Given the description of an element on the screen output the (x, y) to click on. 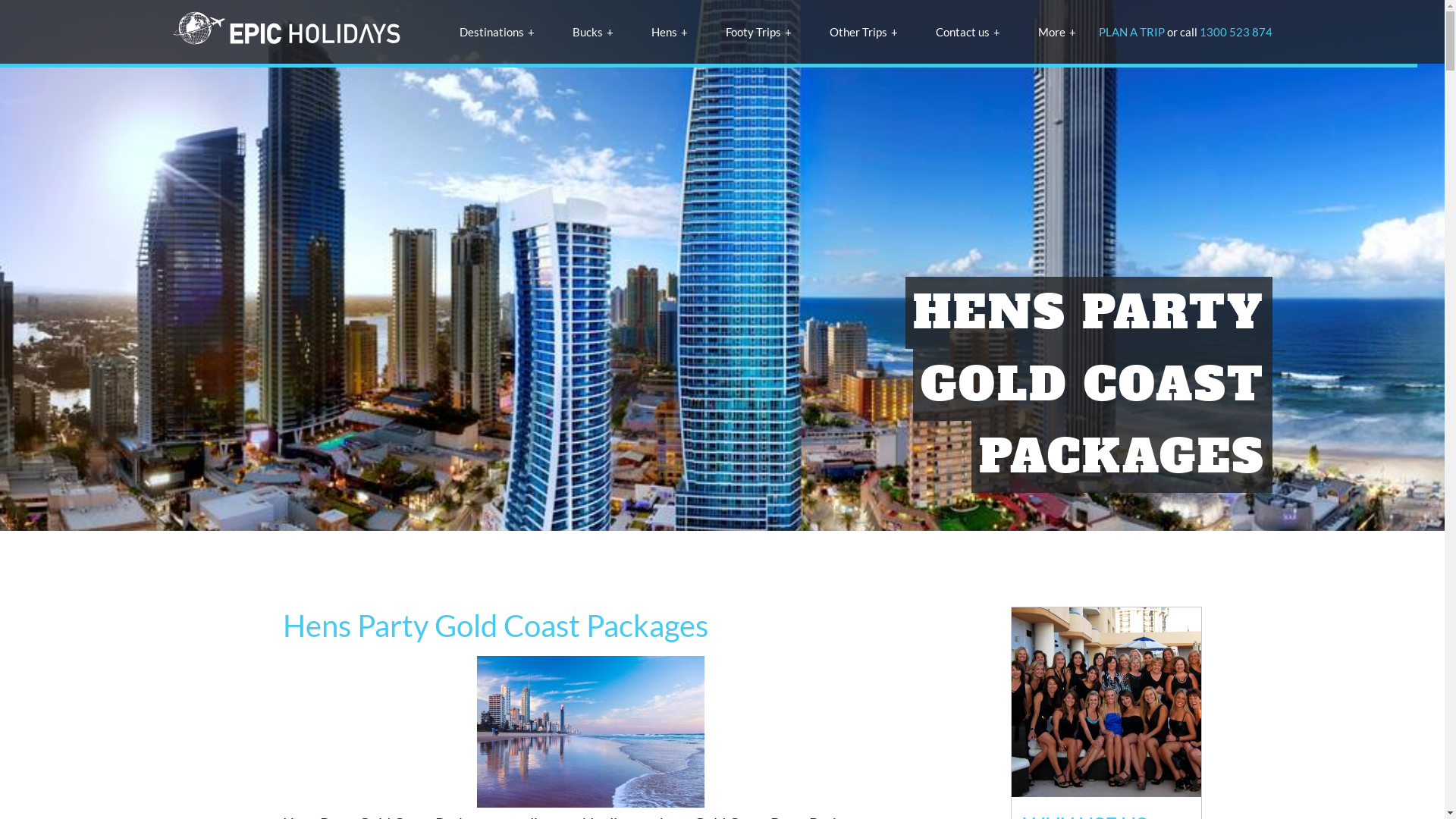
Contact us Element type: text (967, 31)
PLAN A TRIP Element type: text (1131, 31)
Footy Trips Element type: text (757, 31)
1300 523 874 Element type: text (1235, 31)
More Element type: text (1056, 31)
Created with Sketch. Element type: text (286, 31)
Bucks Element type: text (591, 31)
Other Trips Element type: text (863, 31)
Hens Party Gold Coast Packages Element type: hover (589, 731)
Destinations Element type: text (496, 31)
Hens Element type: text (668, 31)
